Given the description of an element on the screen output the (x, y) to click on. 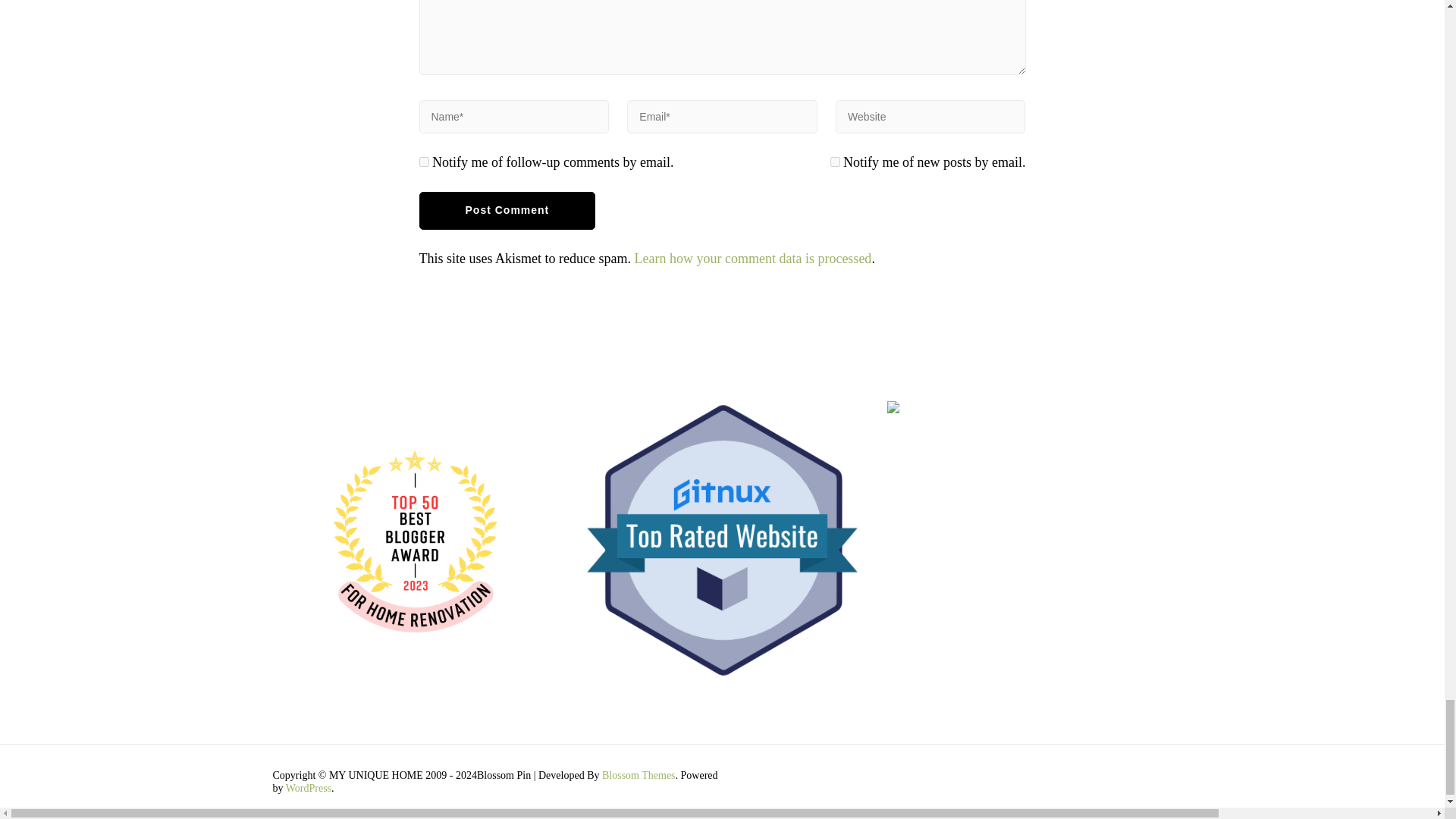
Post Comment (507, 210)
subscribe (834, 162)
subscribe (423, 162)
